Given the description of an element on the screen output the (x, y) to click on. 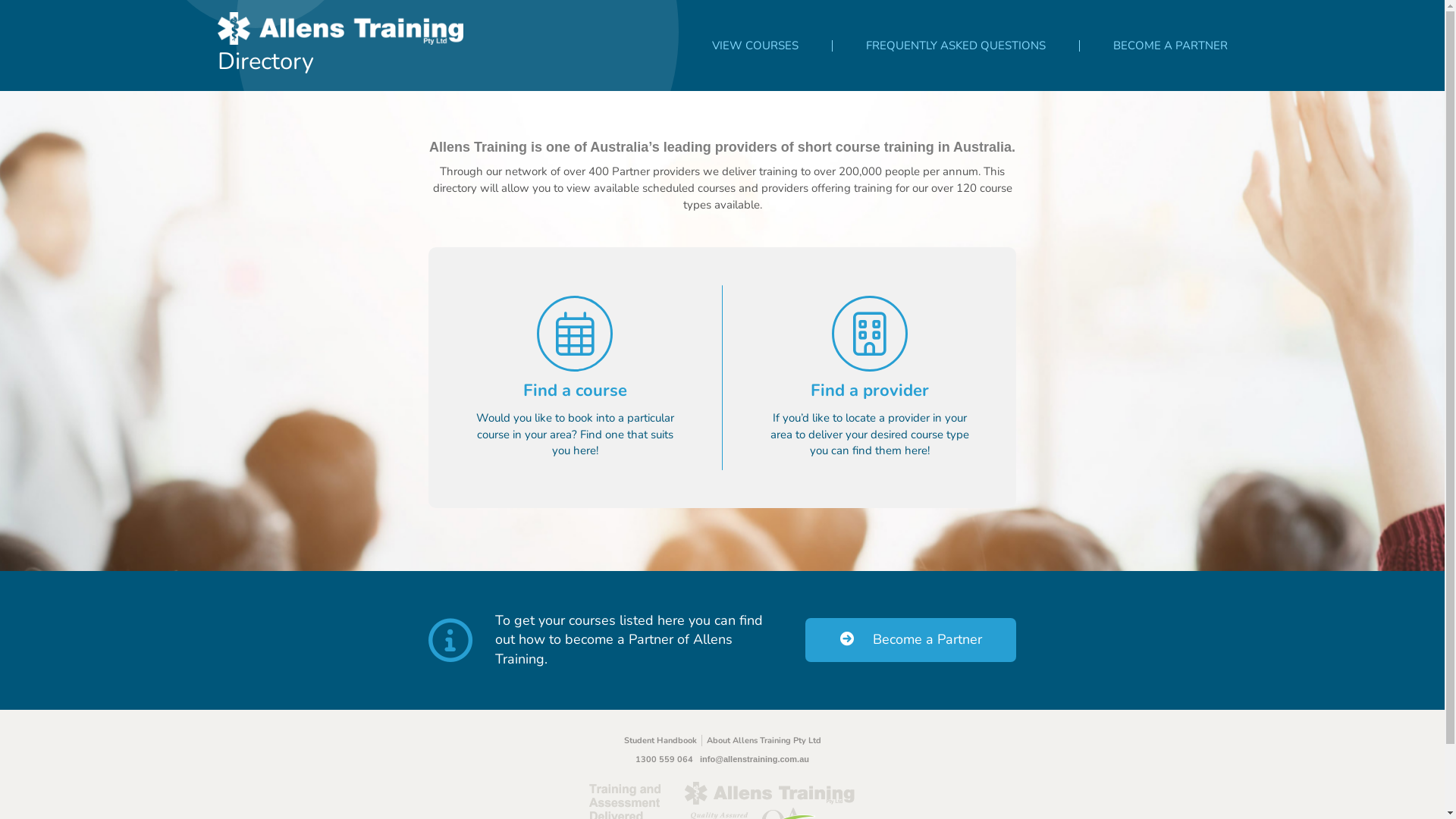
FREQUENTLY ASKED QUESTIONS Element type: text (955, 45)
Find a course Element type: text (575, 348)
BECOME A PARTNER Element type: text (1170, 45)
Find a provider Element type: text (869, 348)
Become a Partner Element type: text (910, 640)
About Allens Training Pty Ltd Element type: text (763, 740)
VIEW COURSES Element type: text (754, 45)
Student Handbook Element type: text (664, 740)
